Given the description of an element on the screen output the (x, y) to click on. 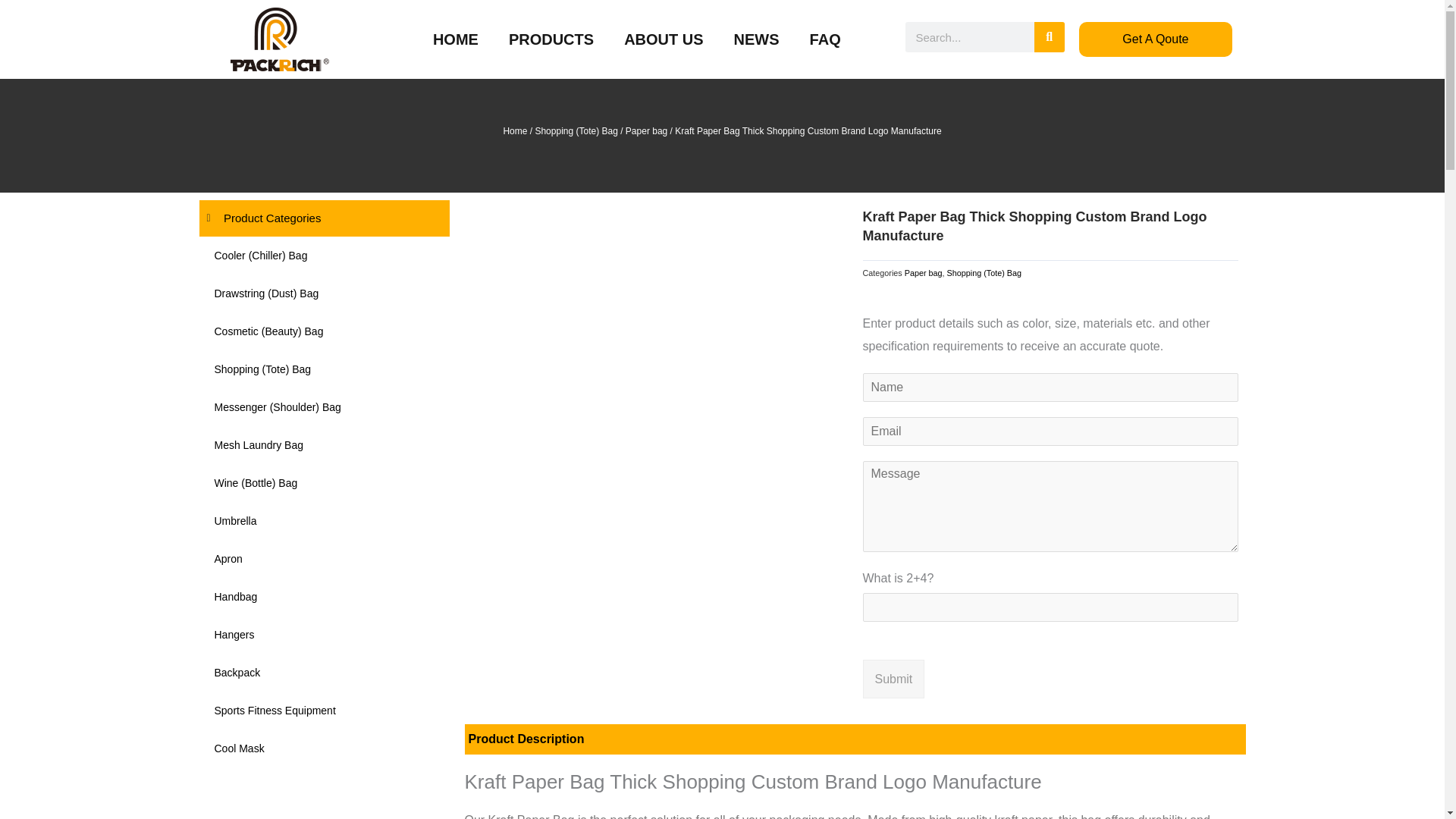
ABOUT US (662, 39)
FAQ (825, 39)
HOME (455, 39)
PRODUCTS (550, 39)
NEWS (756, 39)
